Given the description of an element on the screen output the (x, y) to click on. 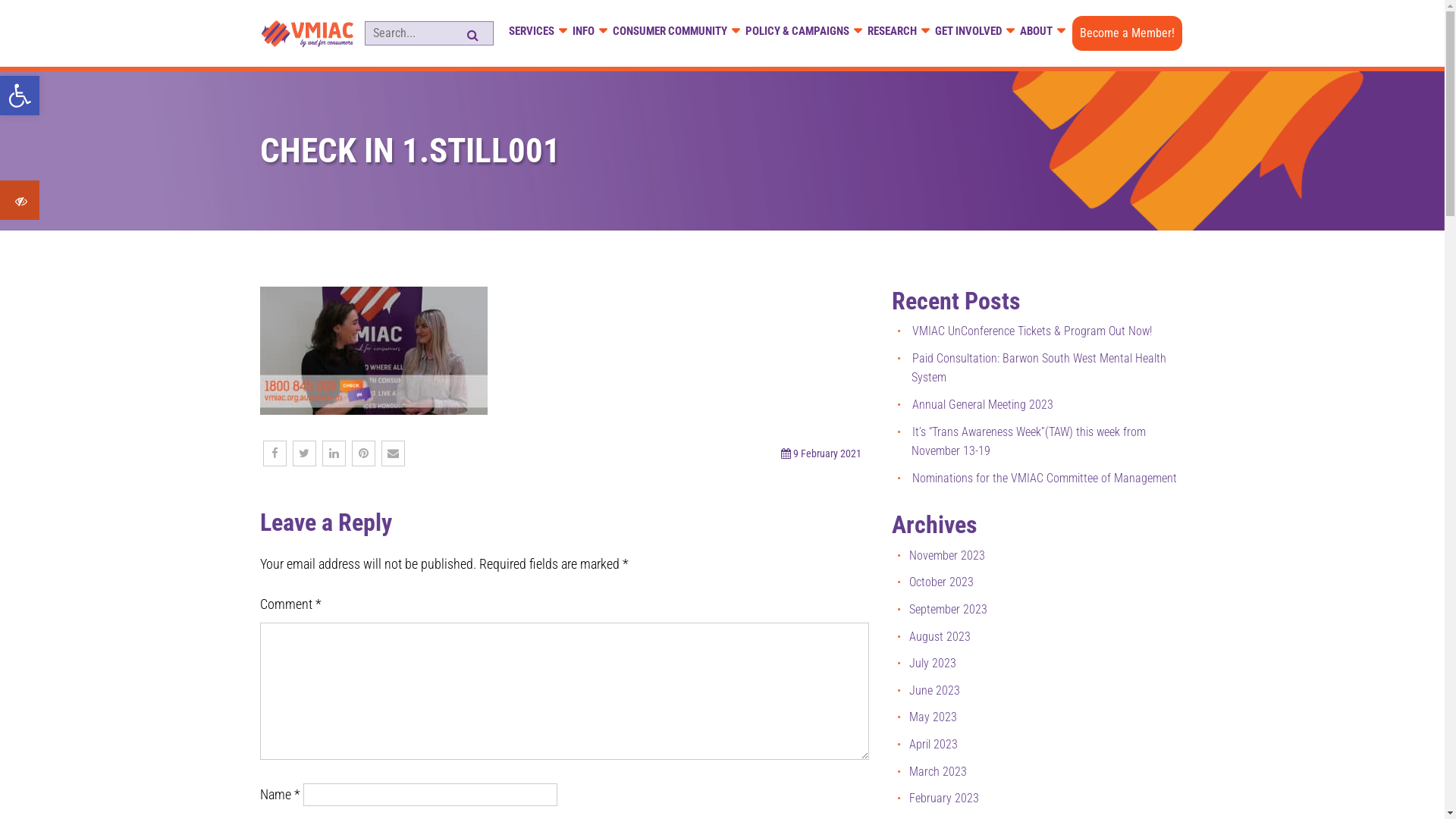
May 2023 Element type: text (933, 716)
April 2023 Element type: text (933, 744)
March 2023 Element type: text (937, 771)
July 2023 Element type: text (932, 662)
Quick Exit Element type: text (19, 201)
VMIAC Element type: text (276, 63)
POLICY & CAMPAIGNS Element type: text (797, 31)
CONSUMER COMMUNITY Element type: text (670, 31)
GET INVOLVED Element type: text (968, 31)
November 2023 Element type: text (947, 555)
February 2023 Element type: text (944, 797)
June 2023 Element type: text (934, 690)
Search Element type: text (56, 15)
Become a Member! Element type: text (1127, 32)
September 2023 Element type: text (948, 609)
VMIAC UnConference Tickets & Program Out Now! Element type: text (1031, 330)
Open toolbar
Accessibility Tools Element type: text (19, 95)
Nominations for the VMIAC Committee of Management Element type: text (1044, 477)
August 2023 Element type: text (939, 636)
9 February 2021 Element type: text (827, 453)
RESEARCH Element type: text (892, 31)
Paid Consultation: Barwon South West Mental Health System Element type: text (1038, 368)
Annual General Meeting 2023 Element type: text (982, 404)
ABOUT Element type: text (1036, 31)
INFO Element type: text (583, 31)
October 2023 Element type: text (941, 581)
SERVICES Element type: text (531, 31)
